Given the description of an element on the screen output the (x, y) to click on. 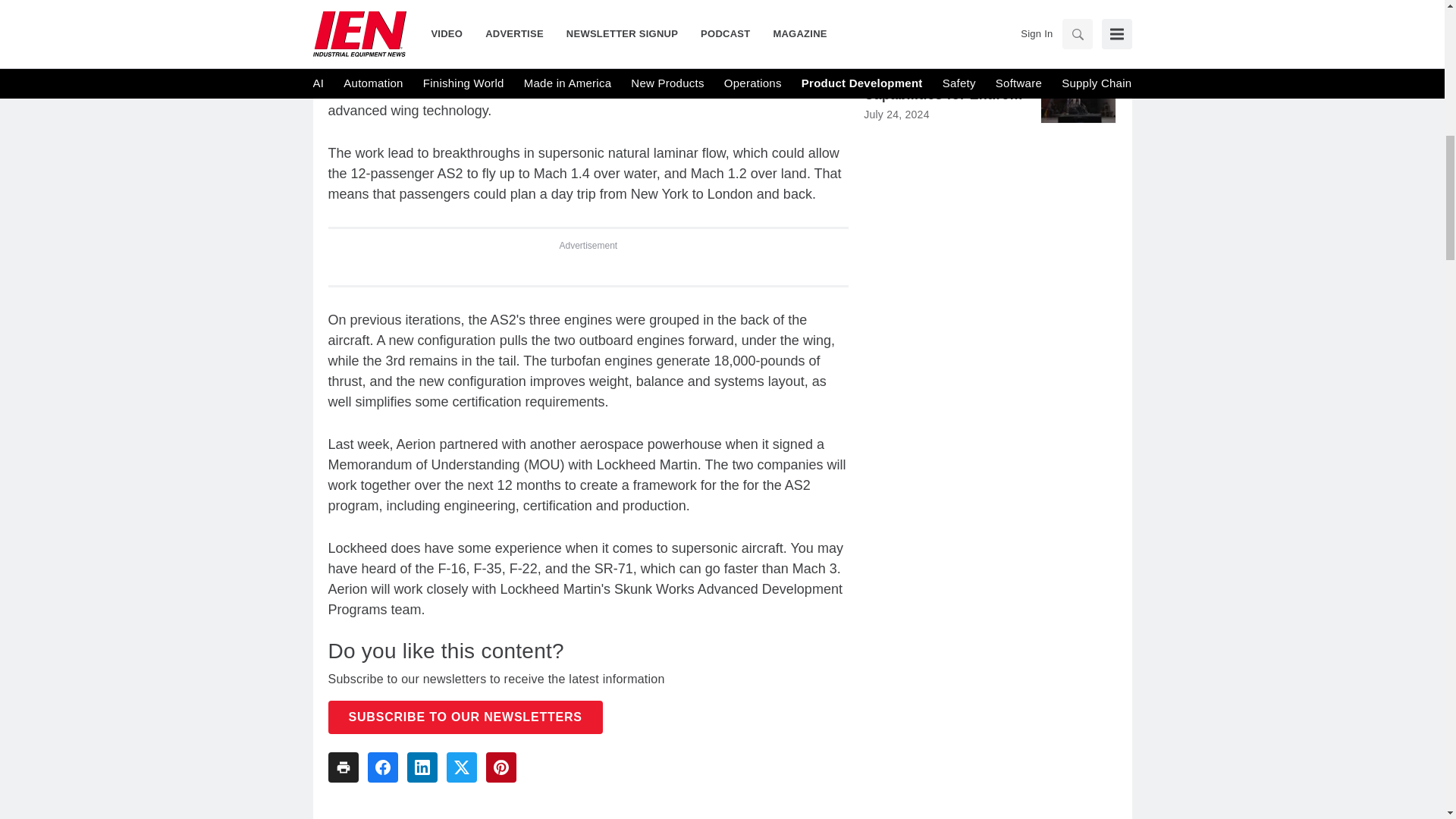
Share To facebook (381, 767)
Share To pinterest (499, 767)
Share To linkedin (421, 767)
Share To print (342, 767)
Share To twitter (460, 767)
